Given the description of an element on the screen output the (x, y) to click on. 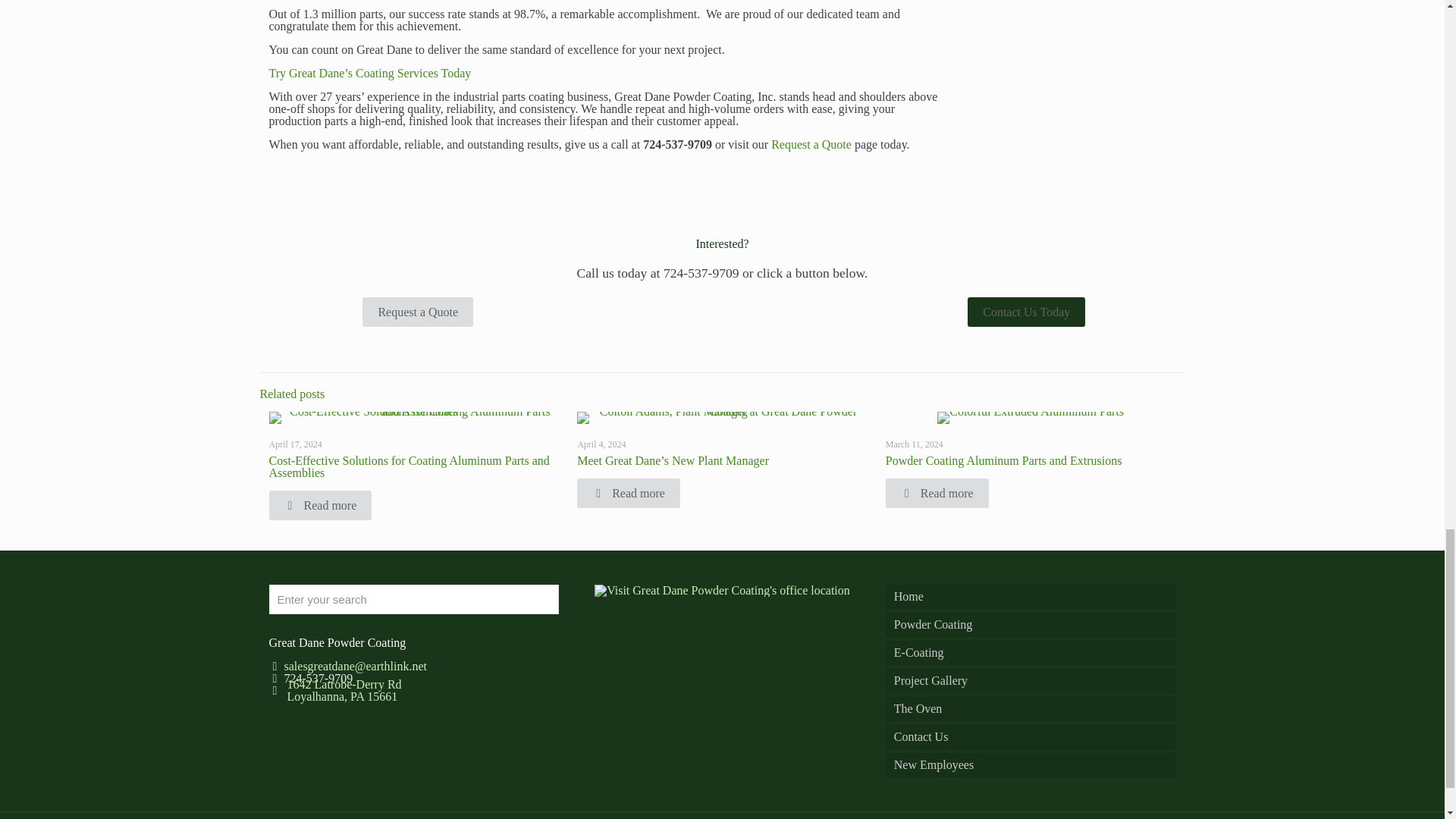
Read more (319, 505)
Read more (627, 492)
Request a Quote (417, 311)
Contact Us Today (1026, 311)
Request a Quote (811, 144)
